Given the description of an element on the screen output the (x, y) to click on. 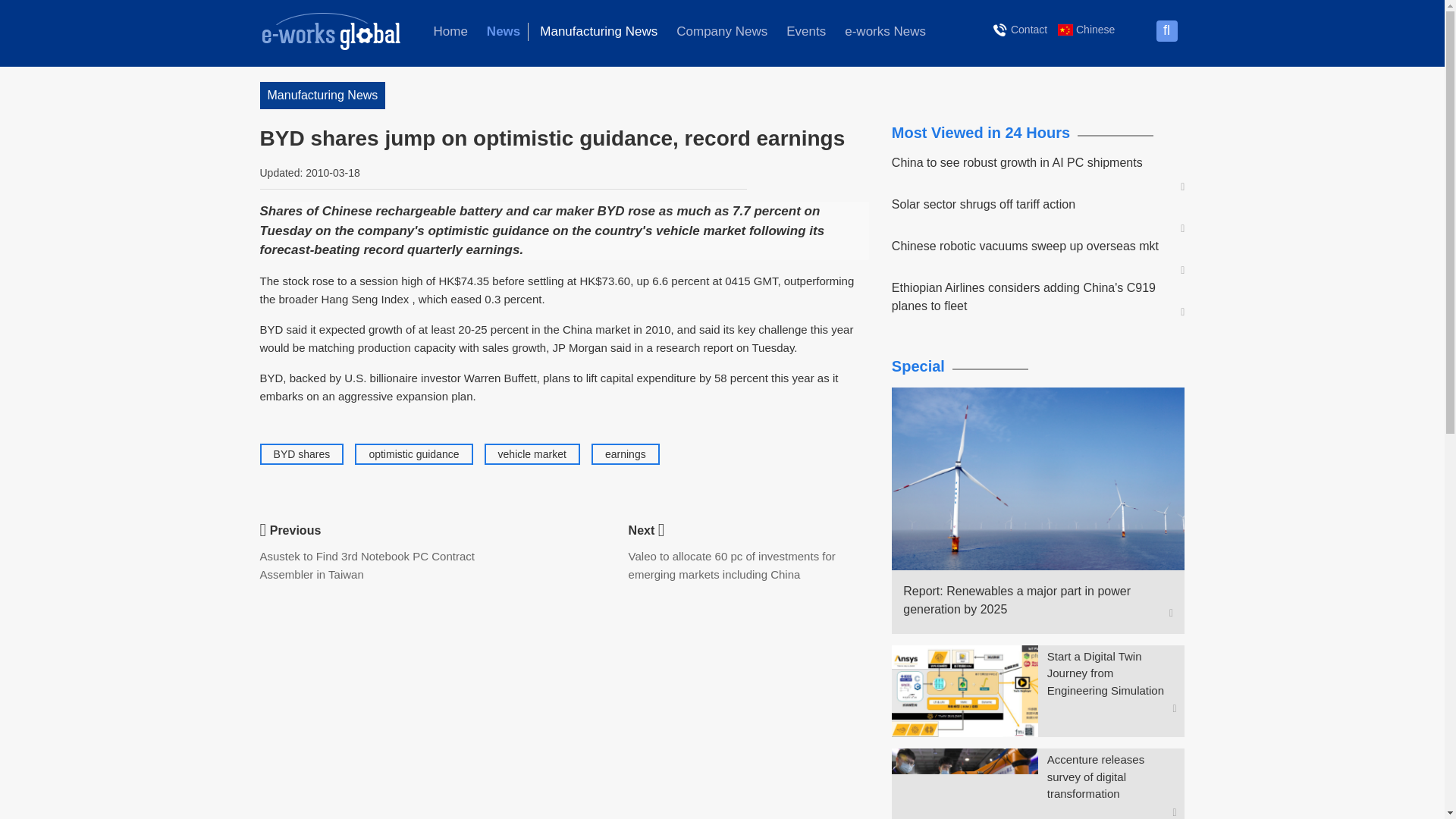
Report: Renewables a major part in power generation by 2025 (1030, 600)
News (503, 31)
Solar sector shrugs off tariff action (1030, 204)
Home (451, 31)
Start a Digital Twin Journey from Engineering Simulation (1111, 674)
Chinese (1086, 29)
Chinese robotic vacuums sweep up overseas mkt (1030, 246)
e-works News (885, 31)
China to see robust growth in AI PC shipments (1030, 162)
earnings (625, 453)
Accenture releases survey of digital transformation (1111, 777)
Events (805, 31)
Contact (1020, 29)
Manufacturing News (598, 31)
